Given the description of an element on the screen output the (x, y) to click on. 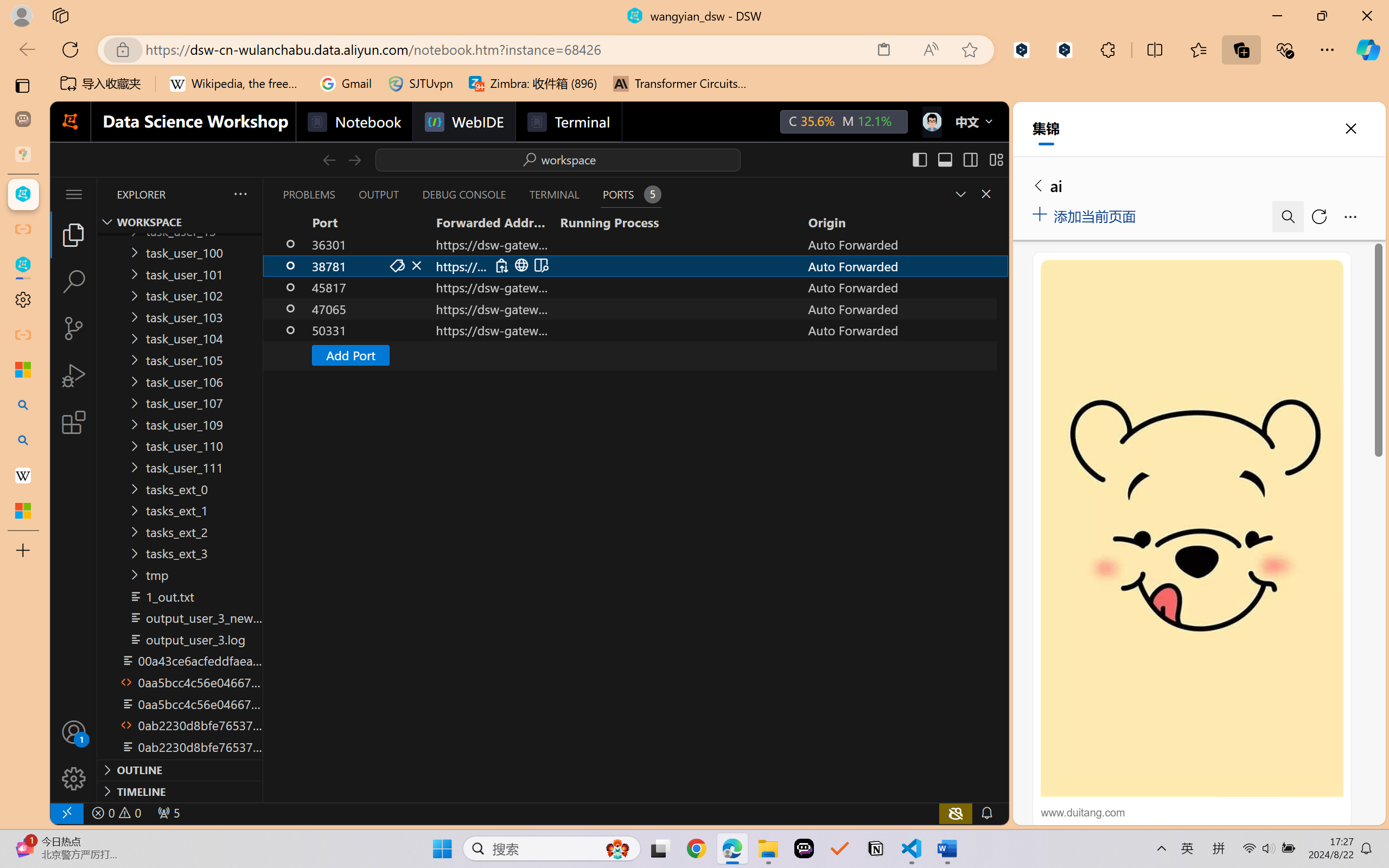
Gmail (345, 83)
Add Port (349, 354)
icon (930, 121)
Terminal (568, 121)
Microsoft security help and learning (22, 369)
remote (66, 812)
Class: actions-container (520, 265)
WebIDE (463, 121)
